Given the description of an element on the screen output the (x, y) to click on. 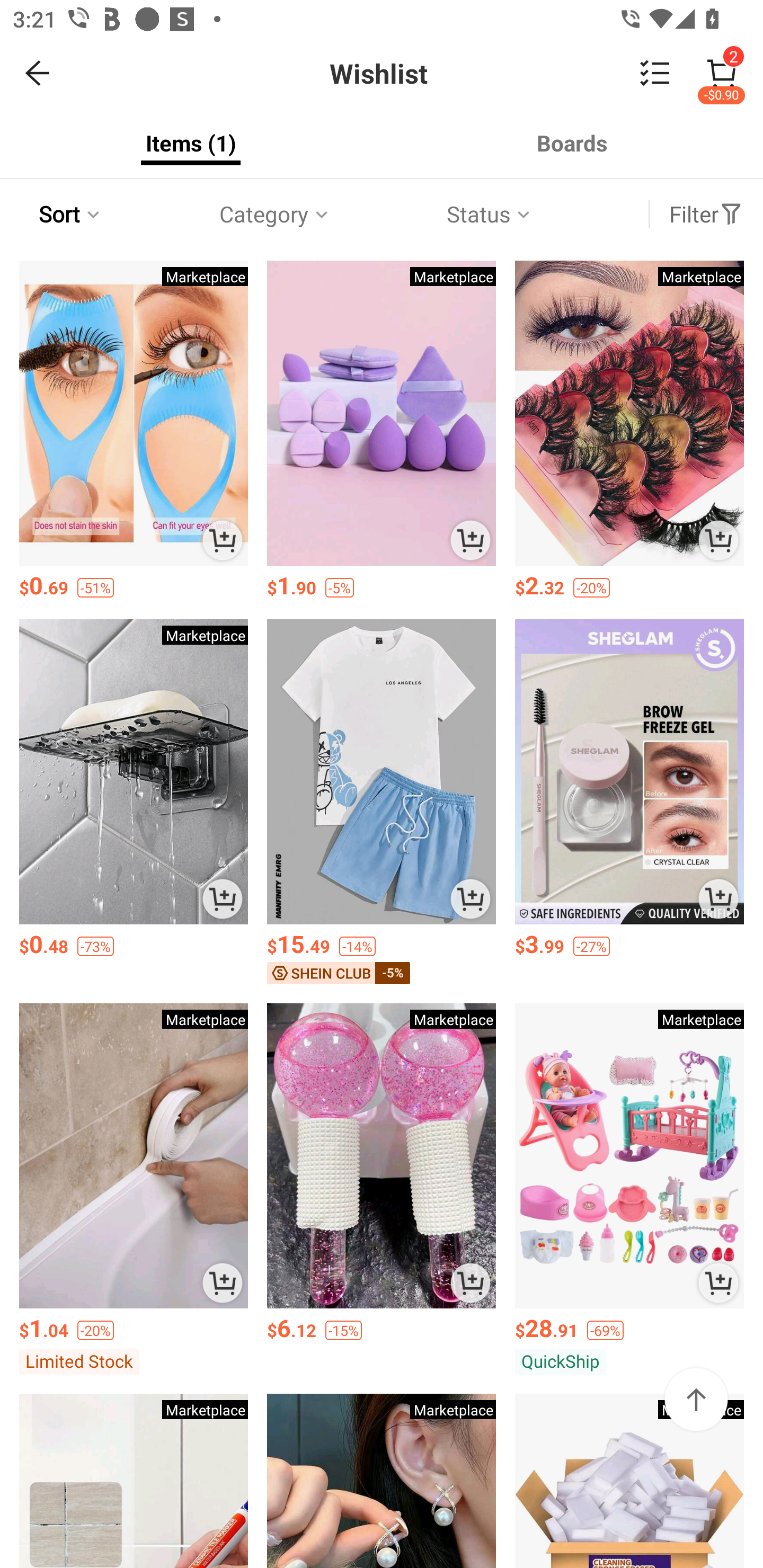
Wishlist (381, 72)
2 -$0.90 (721, 72)
change view (654, 72)
BACK (38, 72)
Items (1) (190, 143)
Boards (572, 143)
Sort (70, 213)
Category (275, 213)
Status (489, 213)
Filter (705, 213)
ADD TO CART (221, 540)
ADD TO CART (469, 540)
ADD TO CART (717, 540)
ADD TO CART (221, 899)
ADD TO CART (469, 899)
ADD TO CART (717, 899)
ADD TO CART (221, 1282)
ADD TO CART (469, 1282)
ADD TO CART (717, 1282)
Back to top (696, 1399)
